Given the description of an element on the screen output the (x, y) to click on. 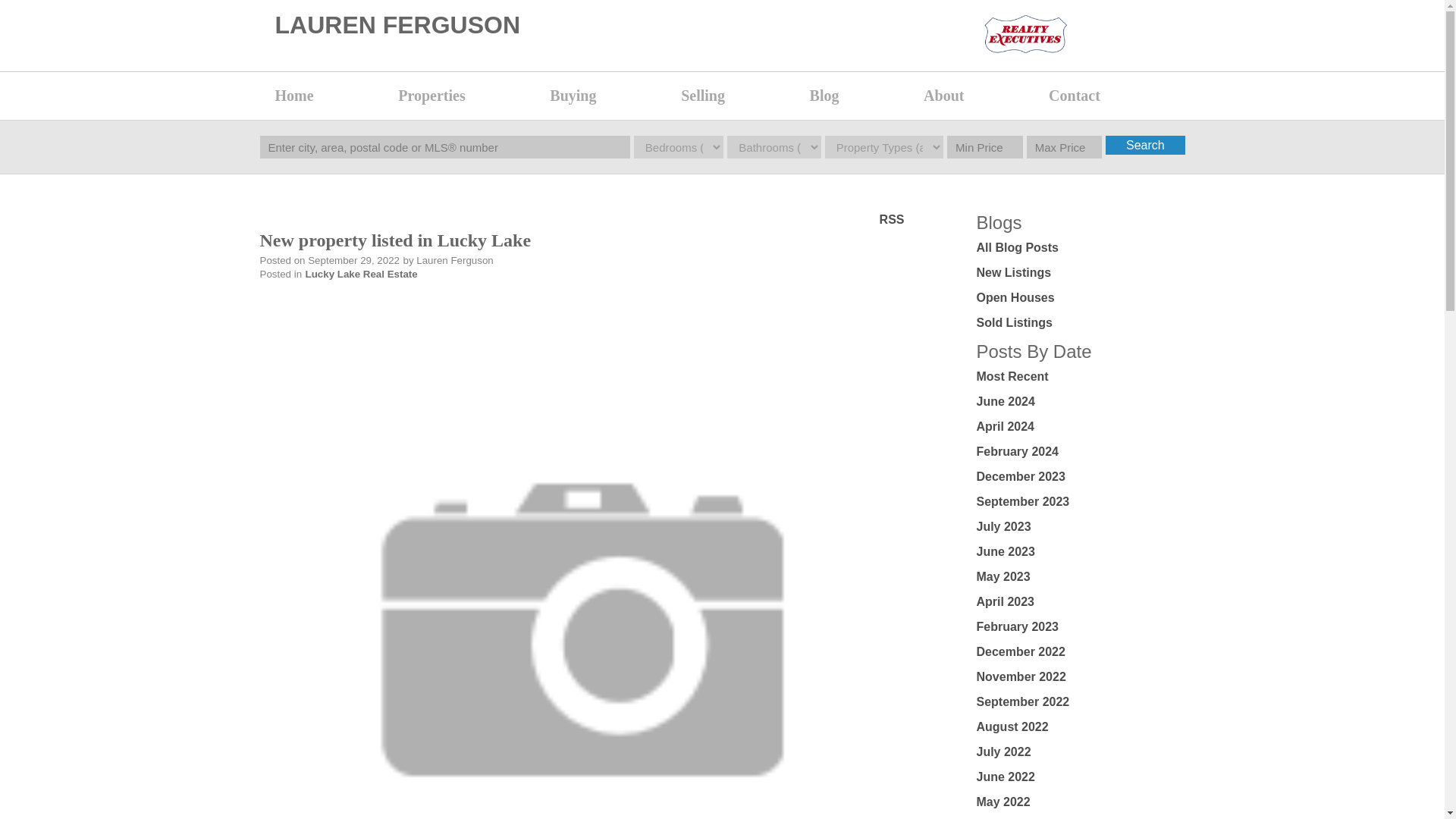
RSS (892, 218)
April 2024 (1004, 426)
February 2024 (1017, 451)
June 2024 (1005, 400)
Selling (737, 95)
Open Houses (1015, 297)
Home (328, 95)
December 2023 (1020, 476)
Search (1145, 144)
New Listings (1013, 272)
Contact (1108, 95)
July 2023 (1003, 526)
September 2023 (1023, 501)
Properties (465, 95)
Buying (606, 95)
